Given the description of an element on the screen output the (x, y) to click on. 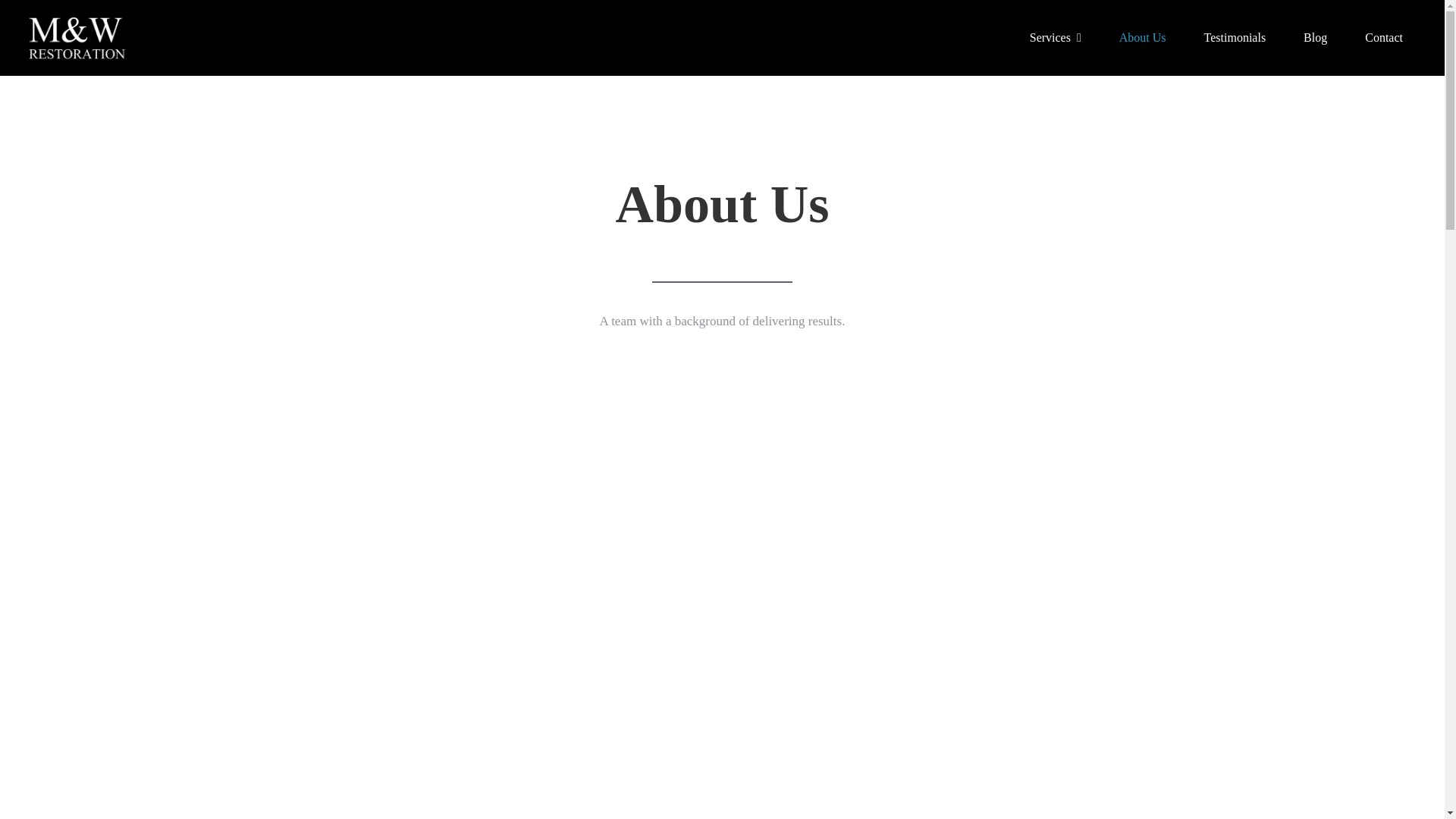
Contact (1383, 38)
Services (1055, 38)
Testimonials (1235, 38)
About Us (1142, 38)
